Given the description of an element on the screen output the (x, y) to click on. 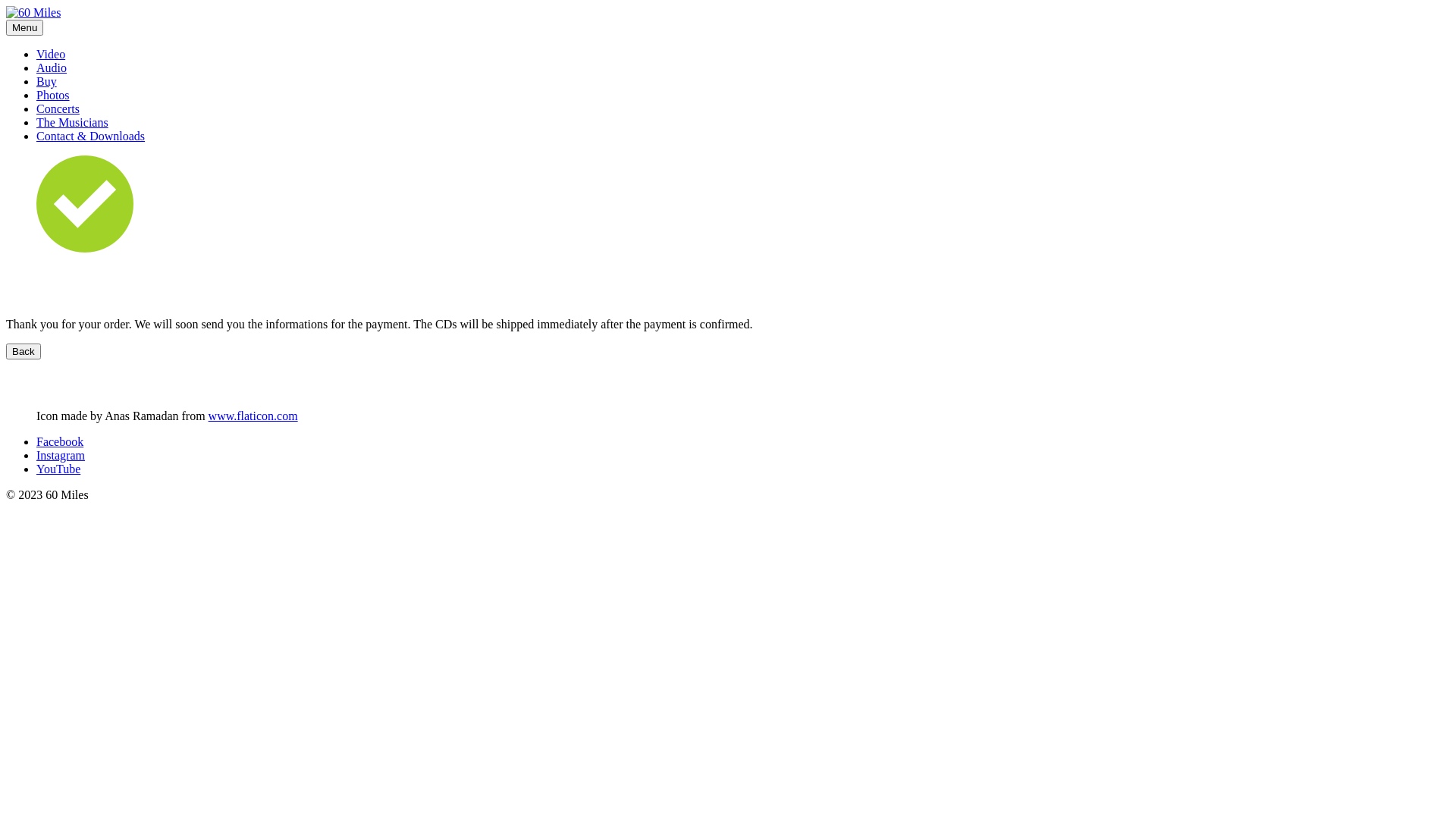
Instagram Element type: text (60, 454)
Audio Element type: text (51, 67)
Facebook Element type: text (59, 441)
Photos Element type: text (52, 94)
Back Element type: text (23, 351)
60 Miles Element type: hover (33, 12)
Menu Element type: text (24, 27)
www.flaticon.com Element type: text (253, 415)
Buy Element type: text (46, 81)
The Musicians Element type: text (72, 122)
Video Element type: text (50, 53)
Concerts Element type: text (57, 108)
YouTube Element type: text (58, 468)
Contact & Downloads Element type: text (90, 135)
